Given the description of an element on the screen output the (x, y) to click on. 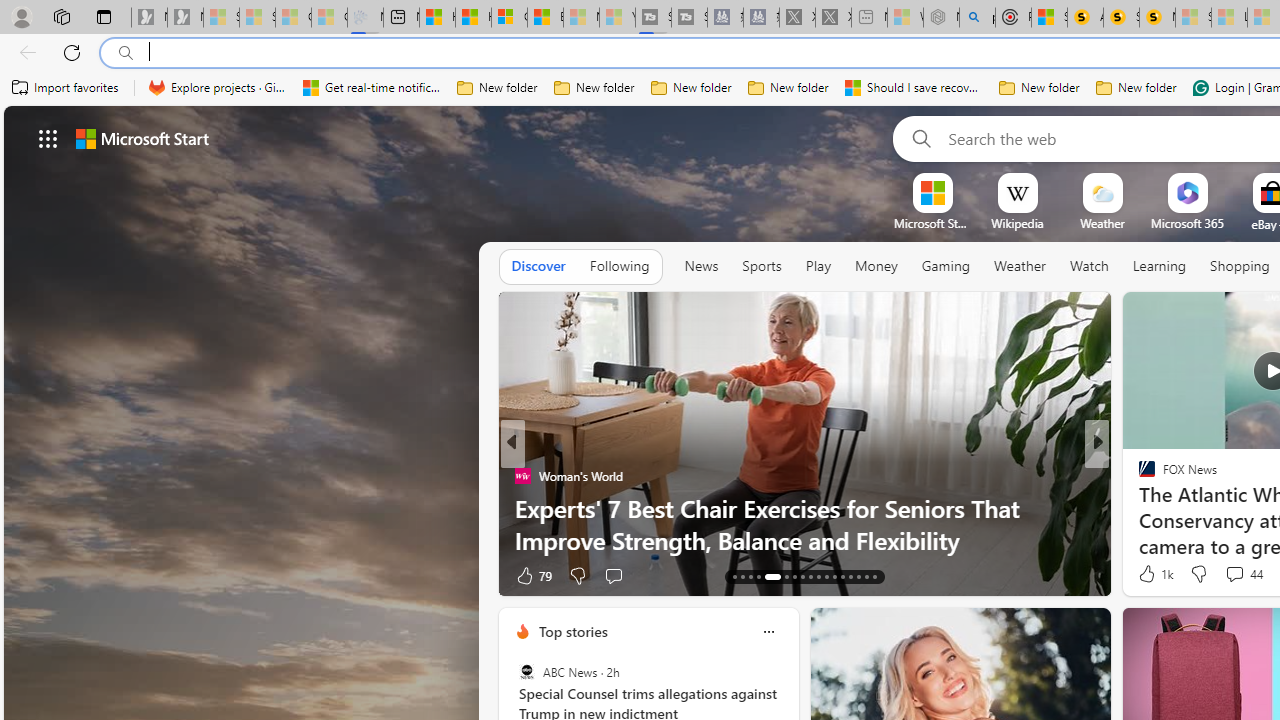
Gaming (945, 267)
AutomationID: tab-17 (767, 576)
INSIDER (1138, 475)
Nordace (537, 507)
Back (24, 52)
View comments 4 Comment (1234, 574)
View comments 191 Comment (11, 575)
33 Like (1149, 574)
Overview (509, 17)
AutomationID: tab-14 (742, 576)
AutomationID: tab-20 (801, 576)
Should I save recovered Word documents? - Microsoft Support (913, 88)
Shopping (1240, 265)
